Given the description of an element on the screen output the (x, y) to click on. 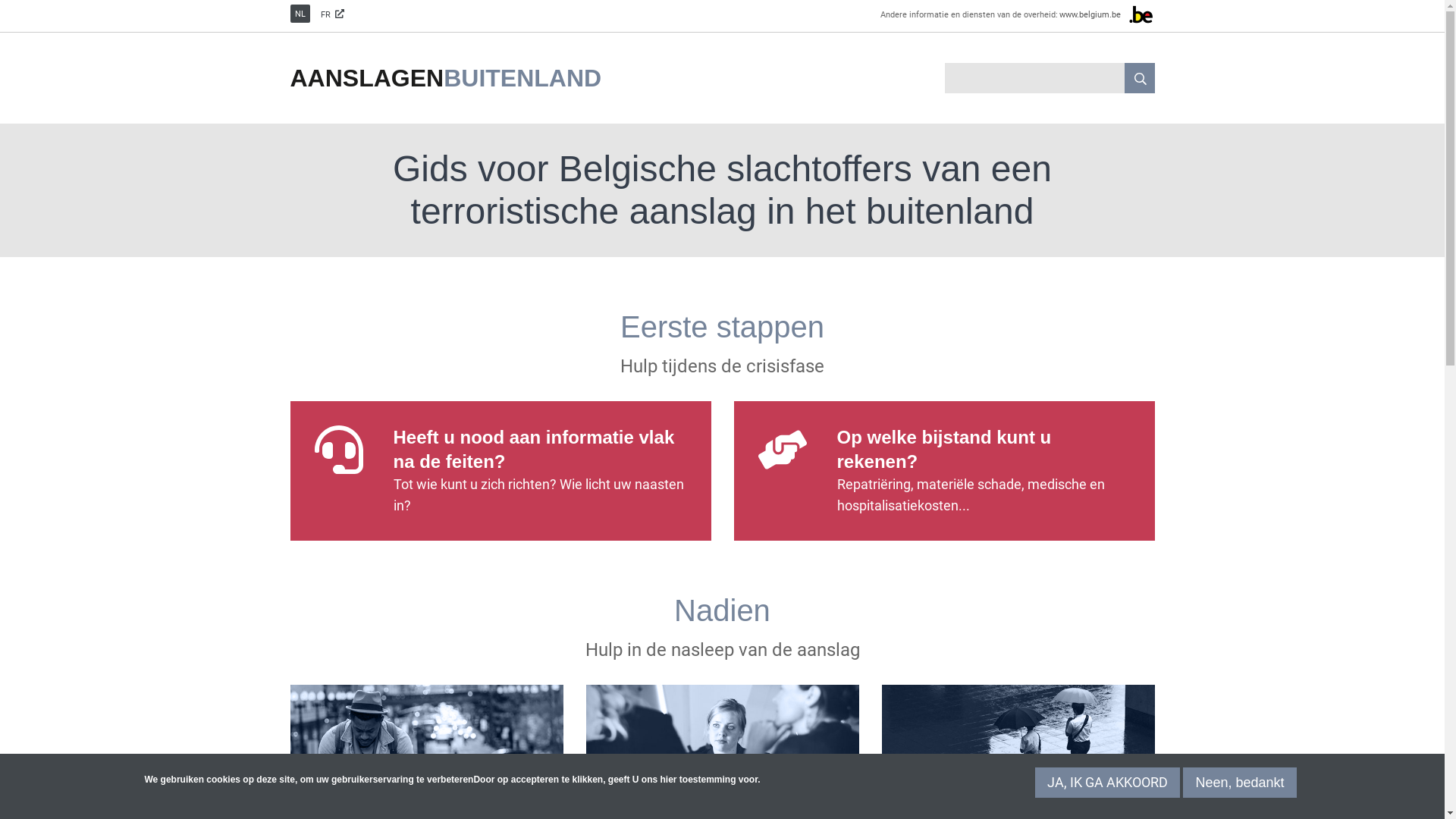
AANSLAGENBUITENLAND Element type: text (445, 77)
Skip to main navigation Element type: text (0, 0)
Neen, bedankt Element type: text (1239, 782)
Zoeken Element type: hover (1138, 77)
www.belgium.be Element type: text (1106, 14)
FR(EXTERNE LINK)
(EXTERNE LINK) Element type: text (331, 13)
NL Element type: text (299, 13)
JA, IK GA AKKOORD Element type: text (1107, 782)
